Given the description of an element on the screen output the (x, y) to click on. 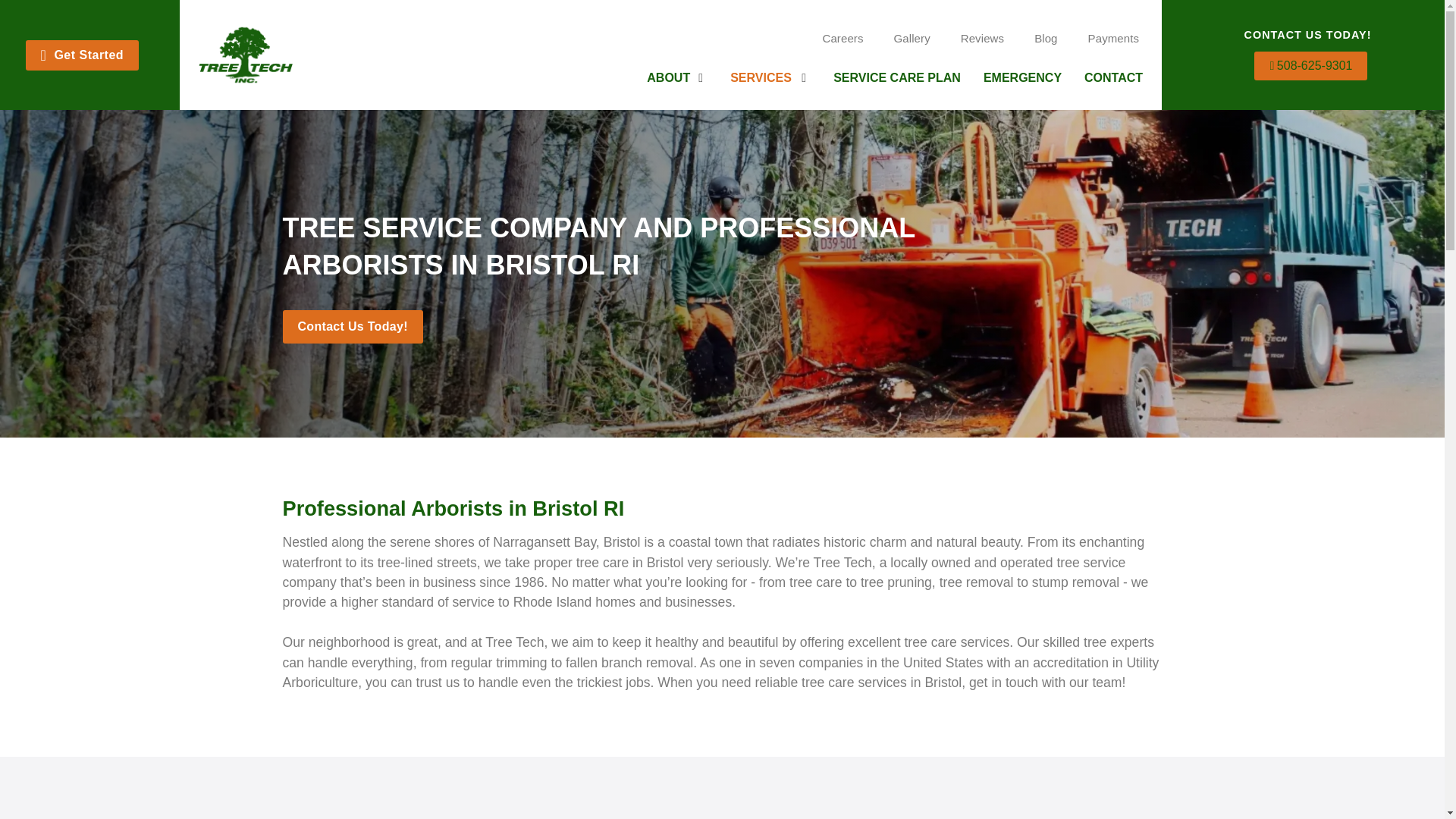
Blog (1045, 38)
Reviews (981, 38)
Careers (841, 38)
Gallery (911, 38)
Payments (1113, 38)
ABOUT (668, 76)
SERVICES (761, 76)
